Given the description of an element on the screen output the (x, y) to click on. 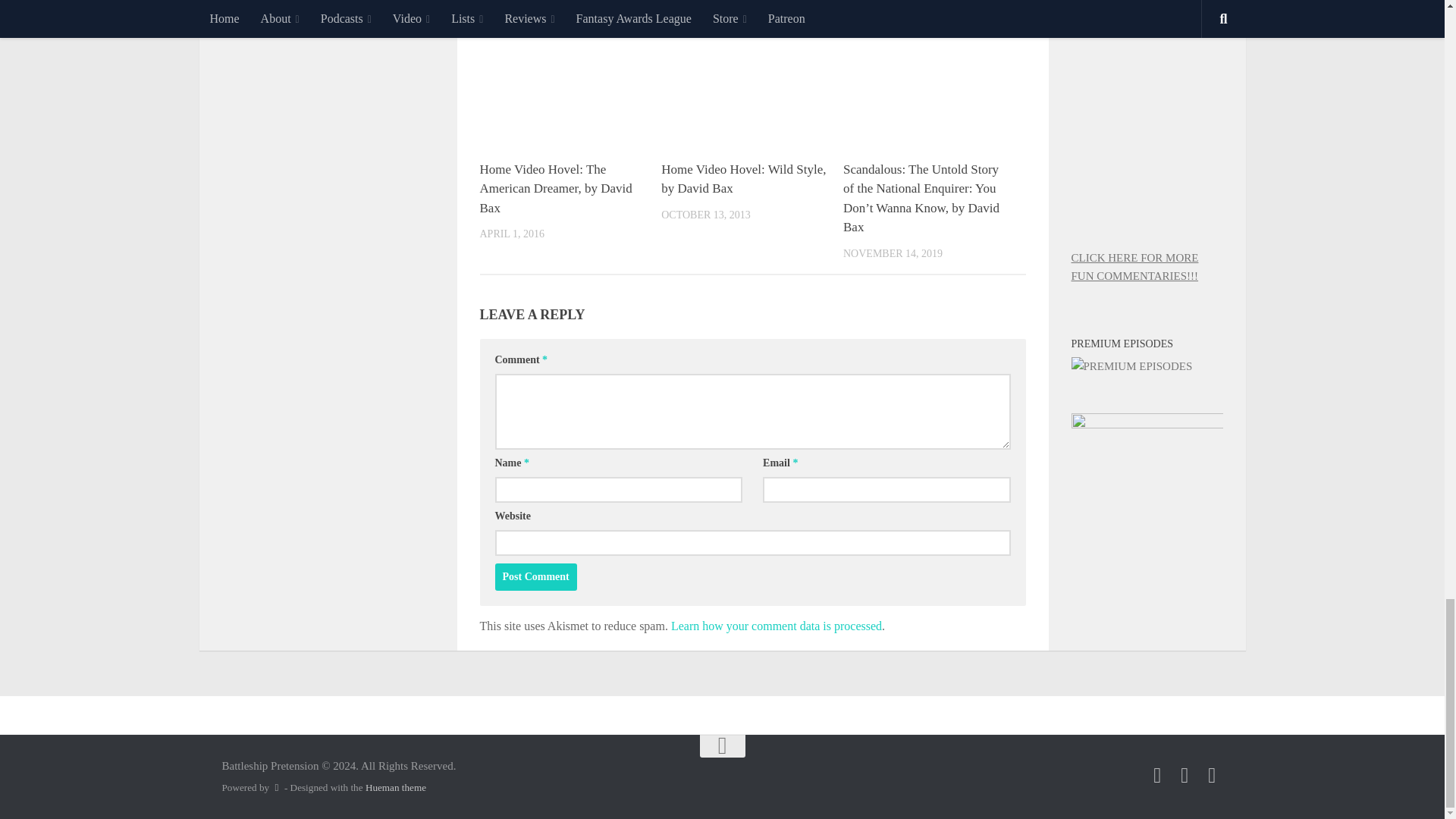
Post Comment (535, 576)
